Given the description of an element on the screen output the (x, y) to click on. 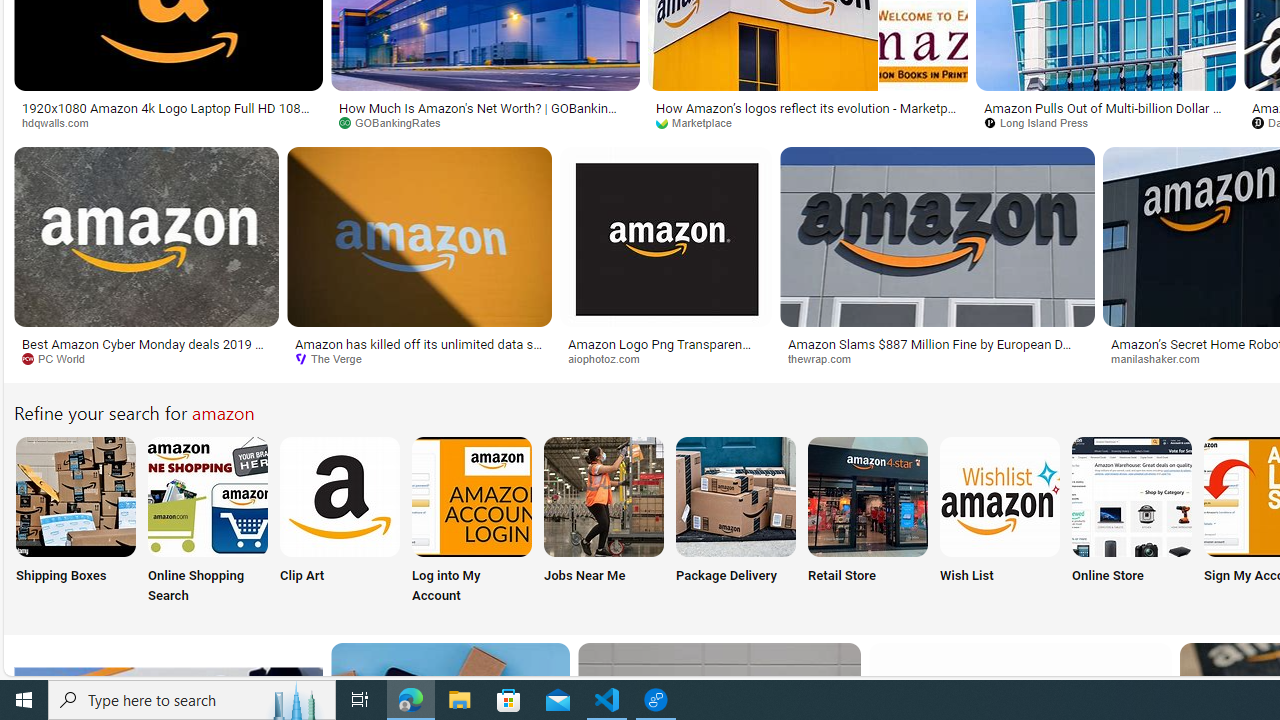
Shipping Boxes (74, 521)
Best Amazon Cyber Monday deals 2019 | PCWorld (146, 350)
Long Island Press (1043, 121)
Log into My Account (472, 521)
Amazon Log into My Account (472, 496)
GOBankingRates (396, 121)
Online Store (1131, 521)
Amazon Package Delivery (735, 496)
Image result for amazon (936, 236)
PC World (146, 359)
Image result for amazon (936, 236)
Amazon Shipping Boxes (75, 496)
